Given the description of an element on the screen output the (x, y) to click on. 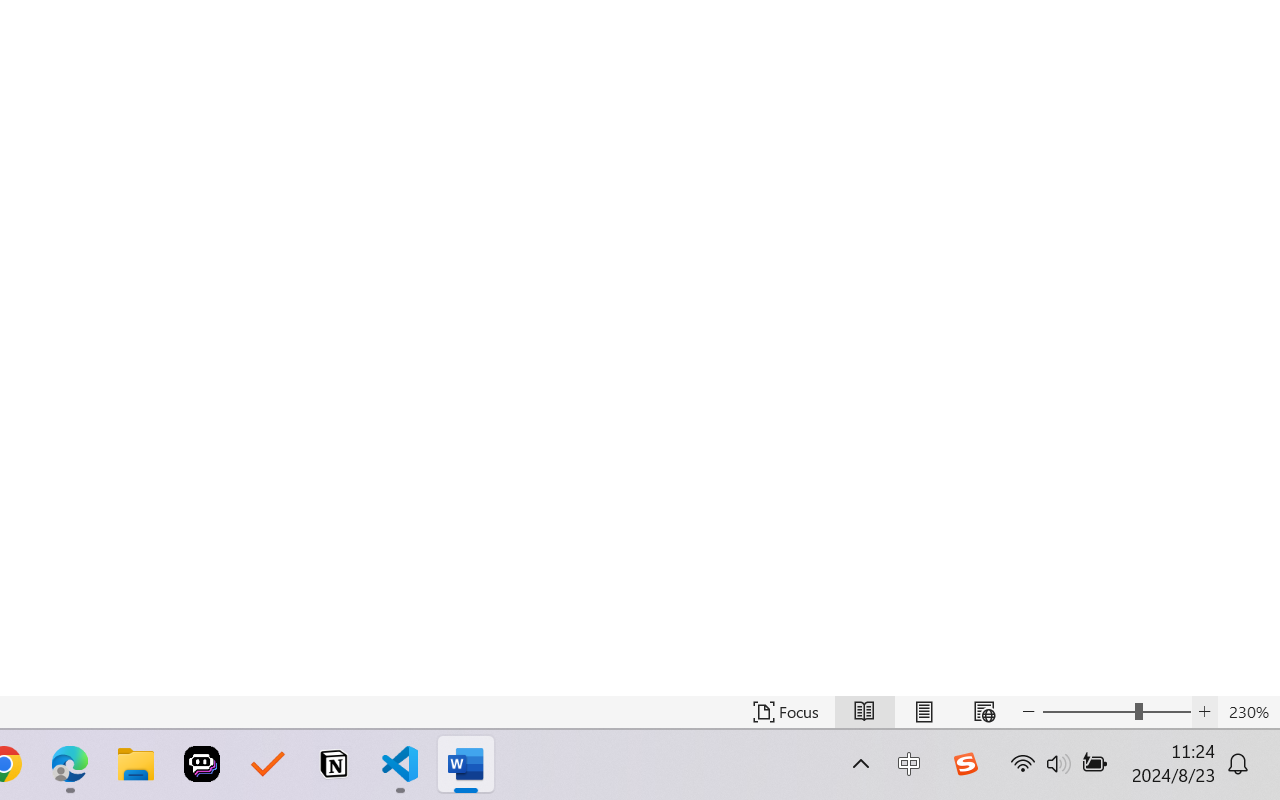
Increase Text Size (1204, 712)
Decrease Text Size (1028, 712)
Text Size (1116, 712)
